Given the description of an element on the screen output the (x, y) to click on. 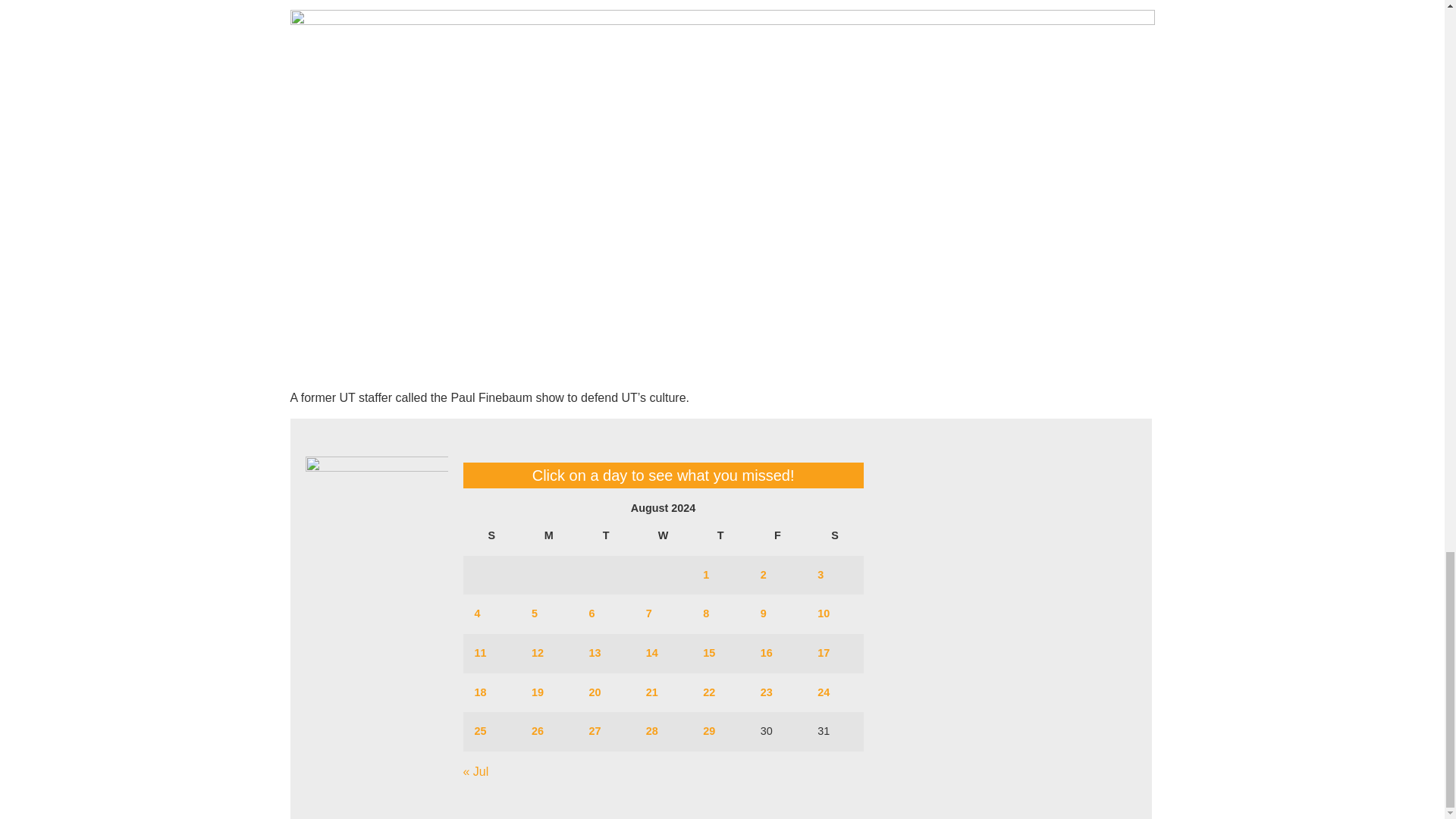
Monday (547, 536)
Wednesday (662, 536)
Sunday (491, 536)
Thursday (719, 536)
Friday (777, 536)
Saturday (834, 536)
Tuesday (604, 536)
